Given the description of an element on the screen output the (x, y) to click on. 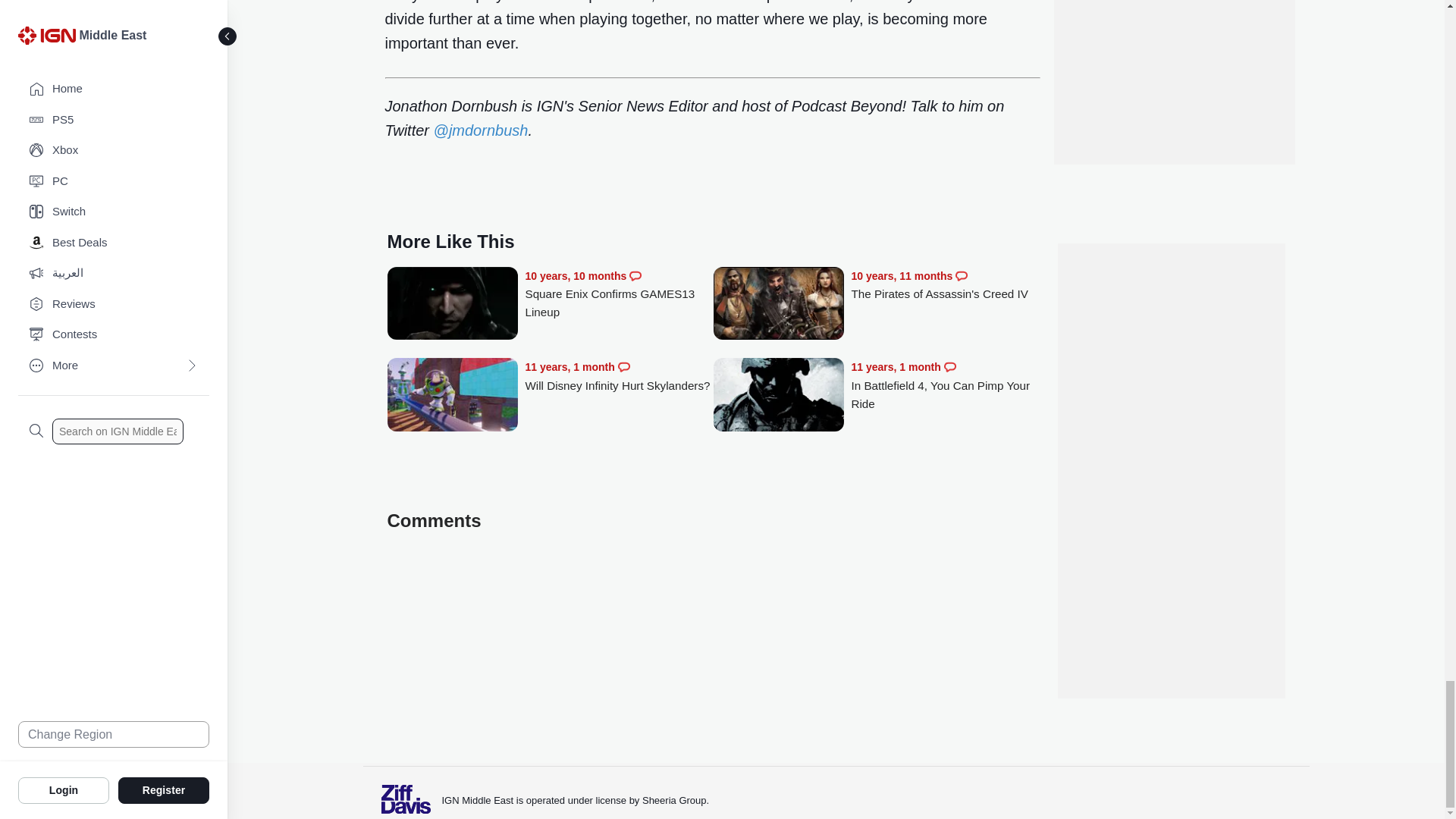
The Pirates of Assassin's Creed IV (778, 304)
Comments (949, 367)
Will Disney Infinity Hurt Skylanders? (618, 375)
Comments (961, 275)
Will Disney Infinity Hurt Skylanders? (451, 395)
The Pirates of Assassin's Creed IV (944, 284)
In Battlefield 4, You Can Pimp Your Ride (944, 385)
Square Enix Confirms GAMES13 Lineup (451, 304)
In Battlefield 4, You Can Pimp Your Ride (778, 395)
Comments (635, 275)
Square Enix Confirms GAMES13 Lineup (618, 294)
Comments (623, 367)
